Given the description of an element on the screen output the (x, y) to click on. 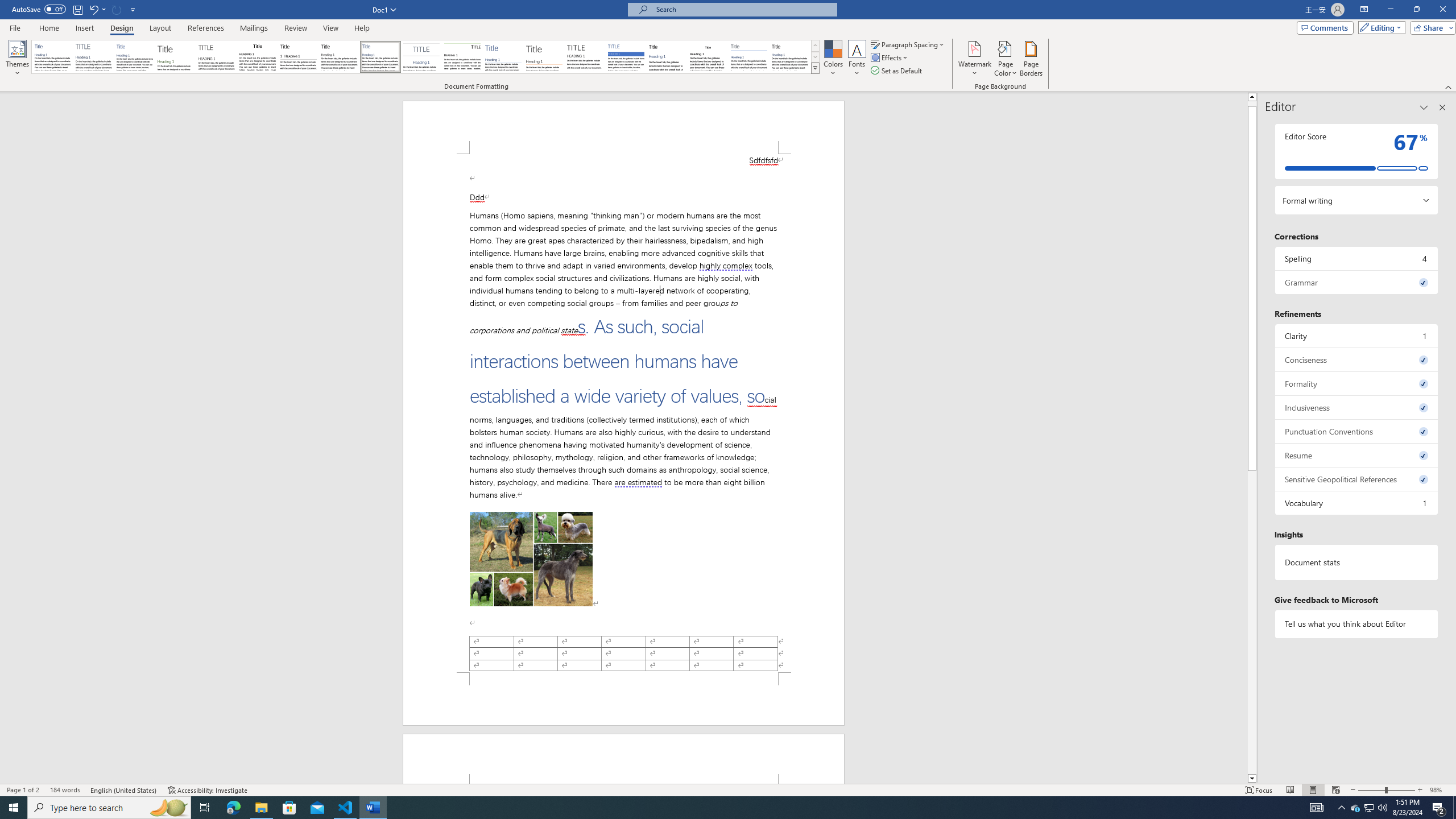
Can't Repeat (117, 9)
Word (666, 56)
Black & White (Word 2013) (338, 56)
Style Set (814, 67)
Undo Outline Move Up (96, 9)
